Given the description of an element on the screen output the (x, y) to click on. 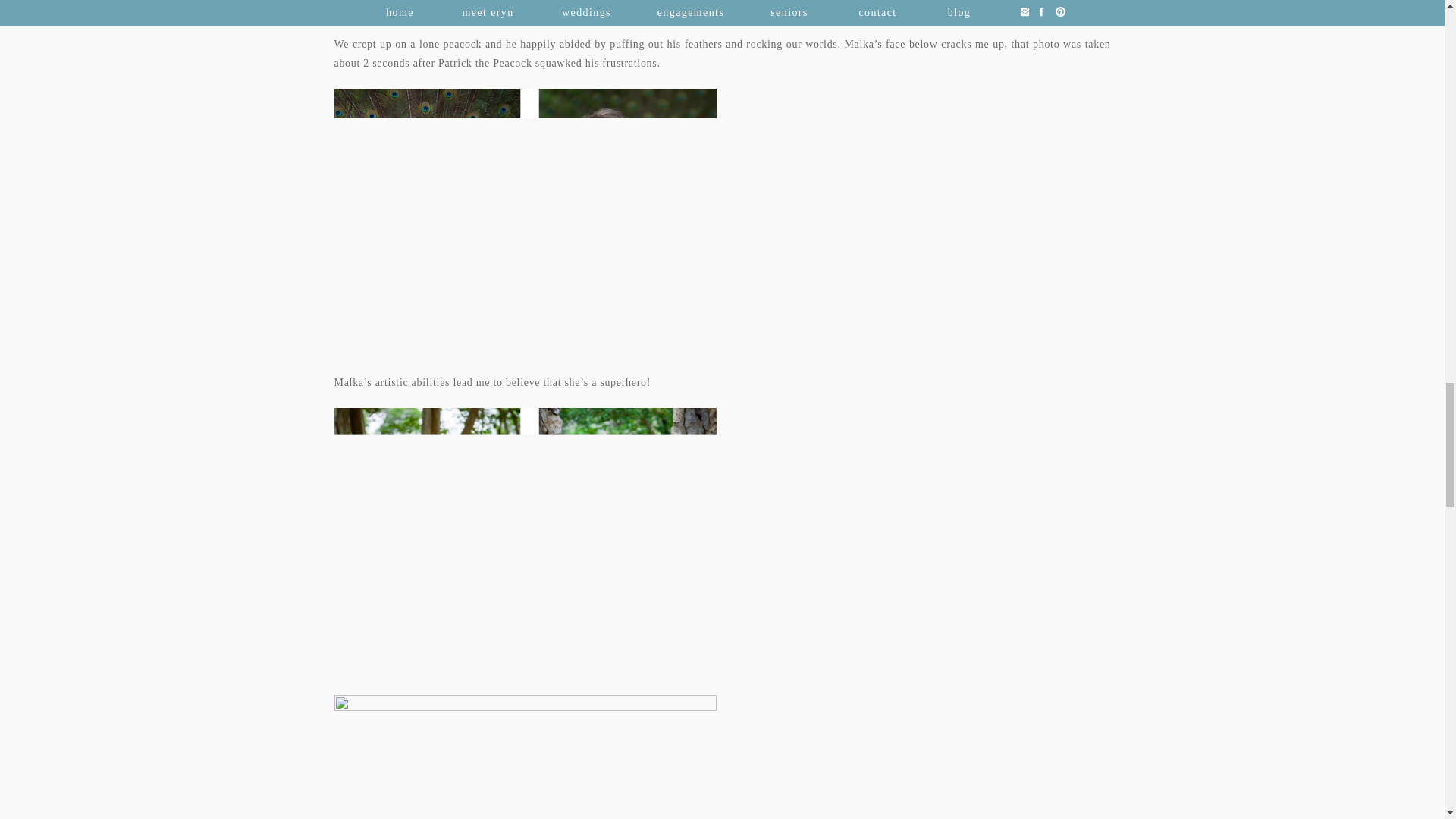
6 (524, 213)
8 (524, 757)
7 (524, 532)
